Given the description of an element on the screen output the (x, y) to click on. 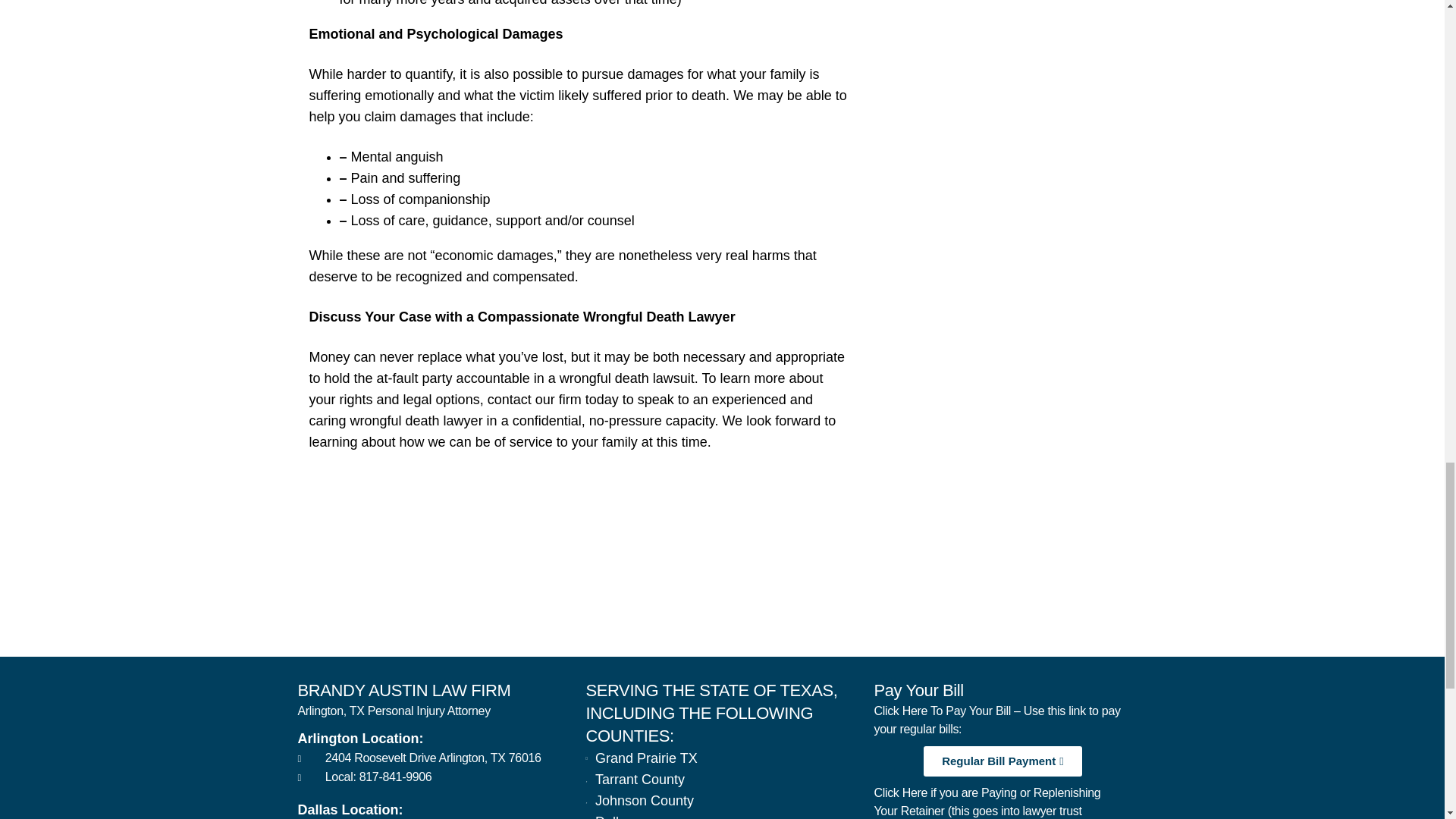
American Institution of Legal Counsel (858, 591)
Avvo Rating - Top Attorney (380, 591)
NAELA (1097, 591)
Super Lawyers (619, 591)
